Given the description of an element on the screen output the (x, y) to click on. 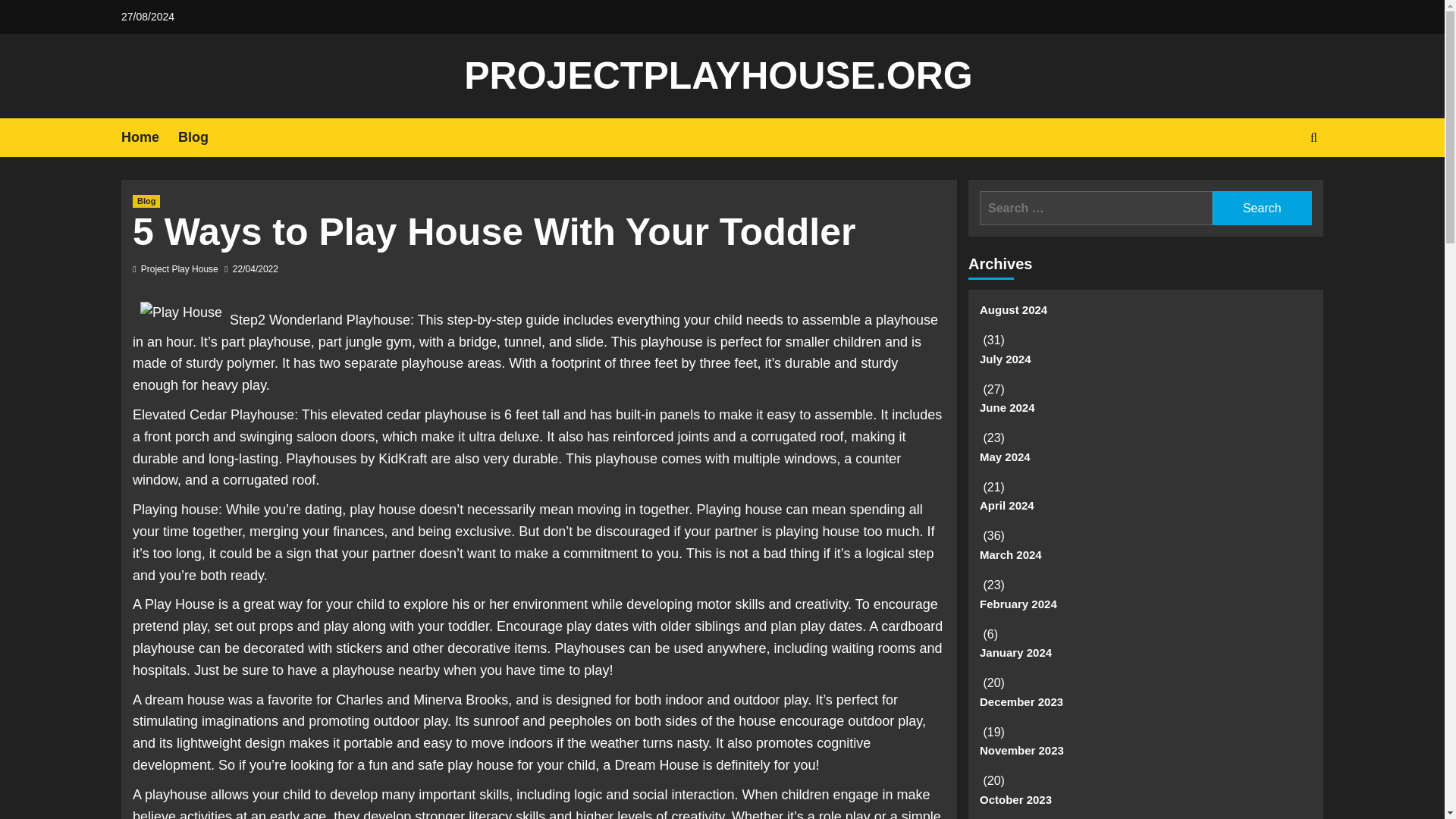
November 2023 (1145, 756)
Search (1261, 207)
July 2024 (1145, 365)
Search (1261, 207)
Search (1278, 183)
February 2024 (1145, 609)
December 2023 (1145, 707)
Project Play House (179, 268)
April 2024 (1145, 511)
August 2024 (1145, 315)
